Given the description of an element on the screen output the (x, y) to click on. 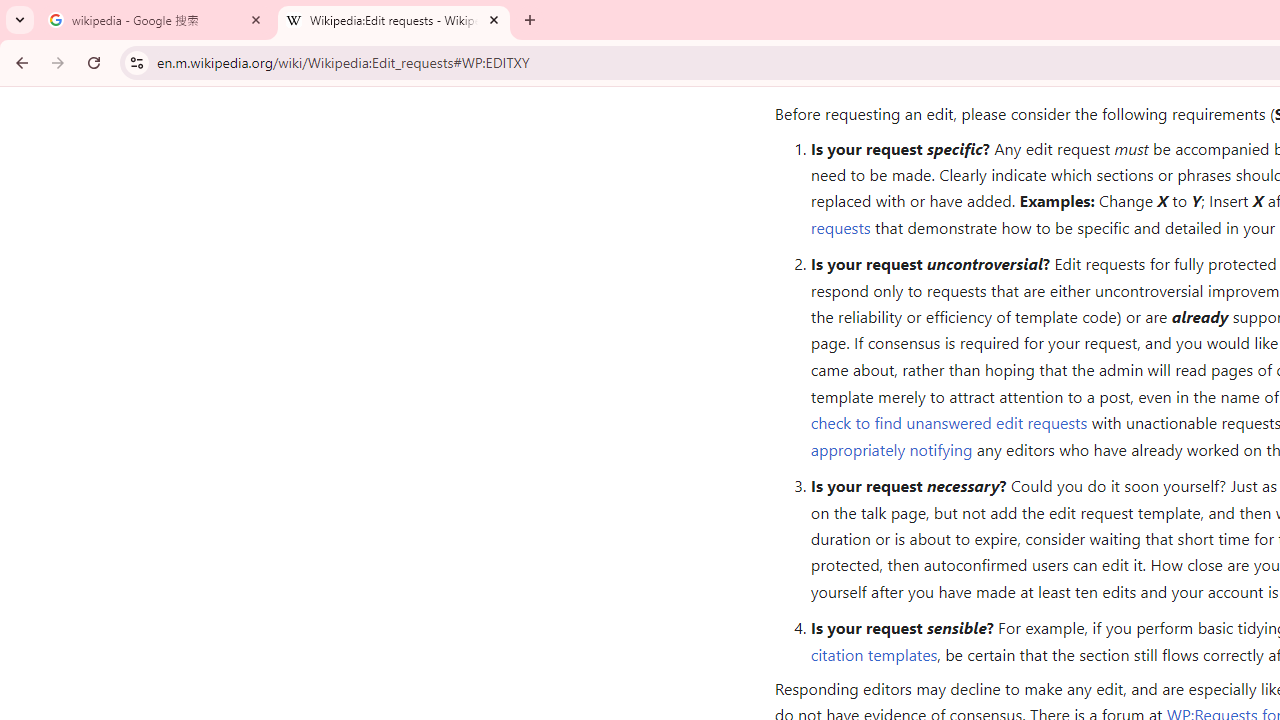
Wikipedia:Edit requests - Wikipedia (394, 20)
appropriately notifying (891, 448)
citation templates (874, 653)
